Given the description of an element on the screen output the (x, y) to click on. 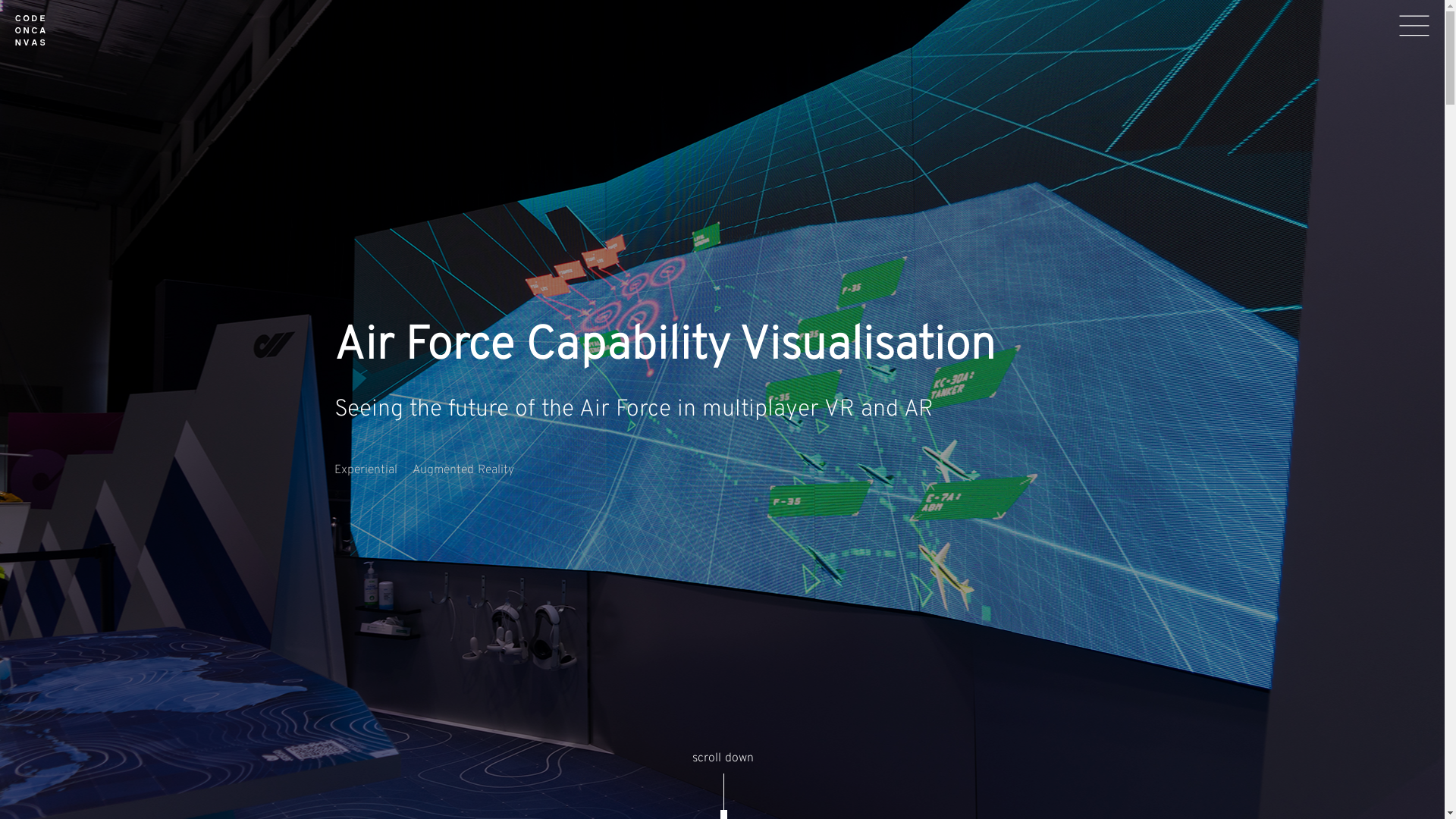
Experiential Element type: text (364, 469)
Augmented Reality Element type: text (463, 469)
